Given the description of an element on the screen output the (x, y) to click on. 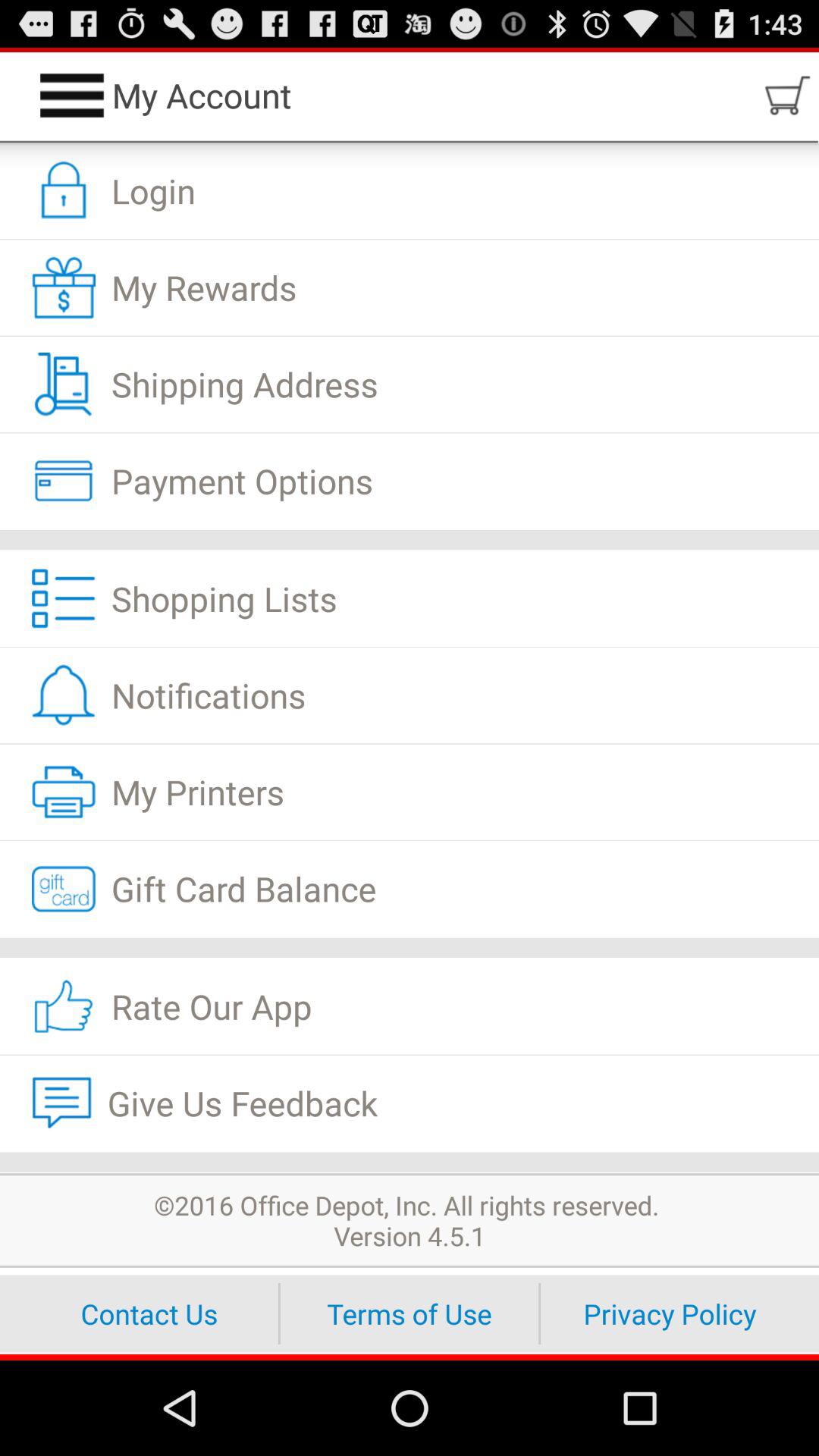
click on the text which says privacy policy which is present at the right side of the text which says terms of use (669, 1313)
